Given the description of an element on the screen output the (x, y) to click on. 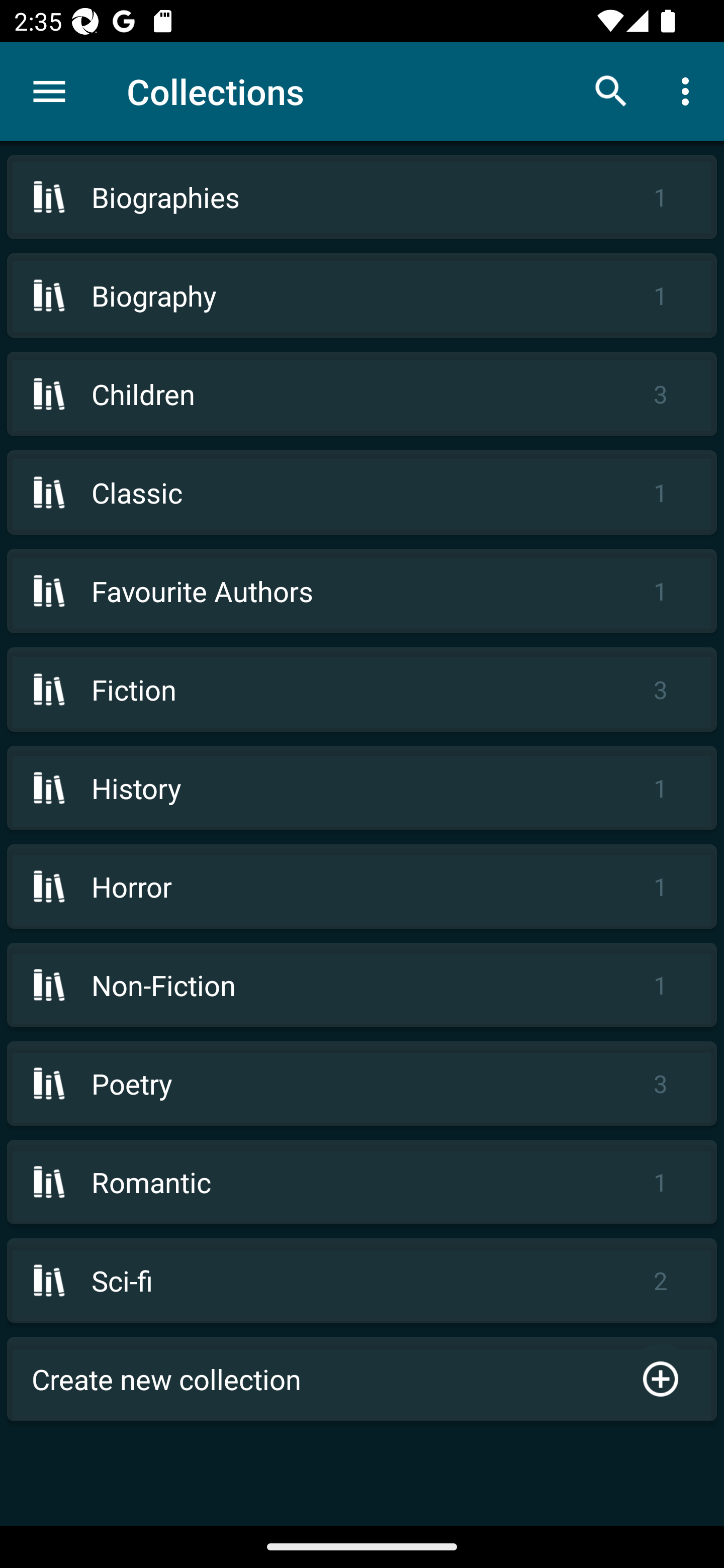
Menu (49, 91)
Search books & documents (611, 90)
More options (688, 90)
Biographies 1 (361, 197)
Biography 1 (361, 295)
Children 3 (361, 393)
Classic 1 (361, 492)
Favourite Authors 1 (361, 590)
Fiction 3 (361, 689)
History 1 (361, 787)
Horror 1 (361, 885)
Non-Fiction 1 (361, 984)
Poetry 3 (361, 1083)
Romantic 1 (361, 1181)
Sci-fi 2 (361, 1280)
Create new collection (361, 1378)
